Given the description of an element on the screen output the (x, y) to click on. 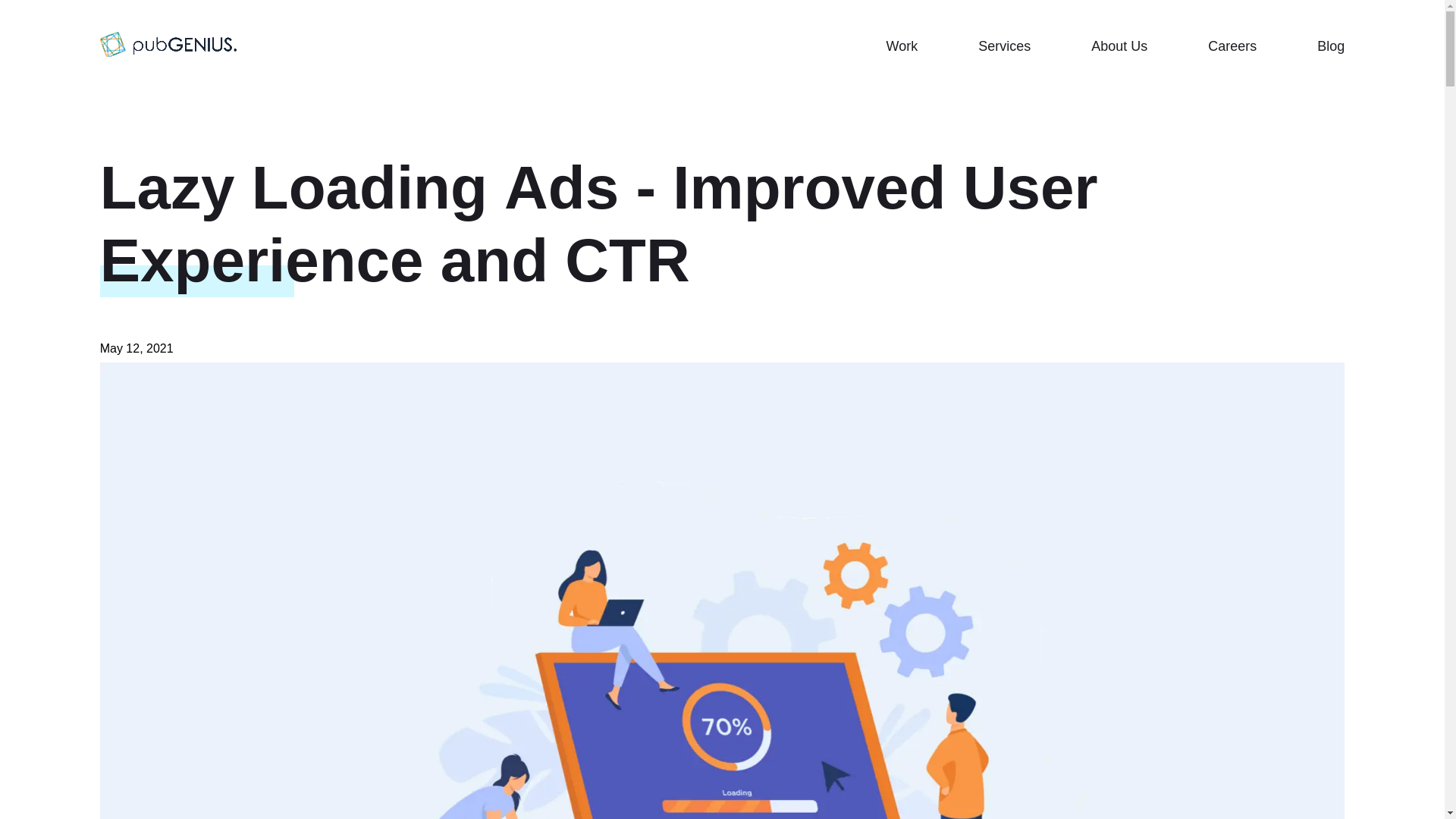
Services (1004, 46)
Blog (1330, 46)
Services (1004, 46)
Work (901, 46)
Blog (1330, 46)
About Us (1118, 46)
About Us (1118, 46)
Careers (1232, 46)
Careers (1232, 46)
Work (901, 46)
